Given the description of an element on the screen output the (x, y) to click on. 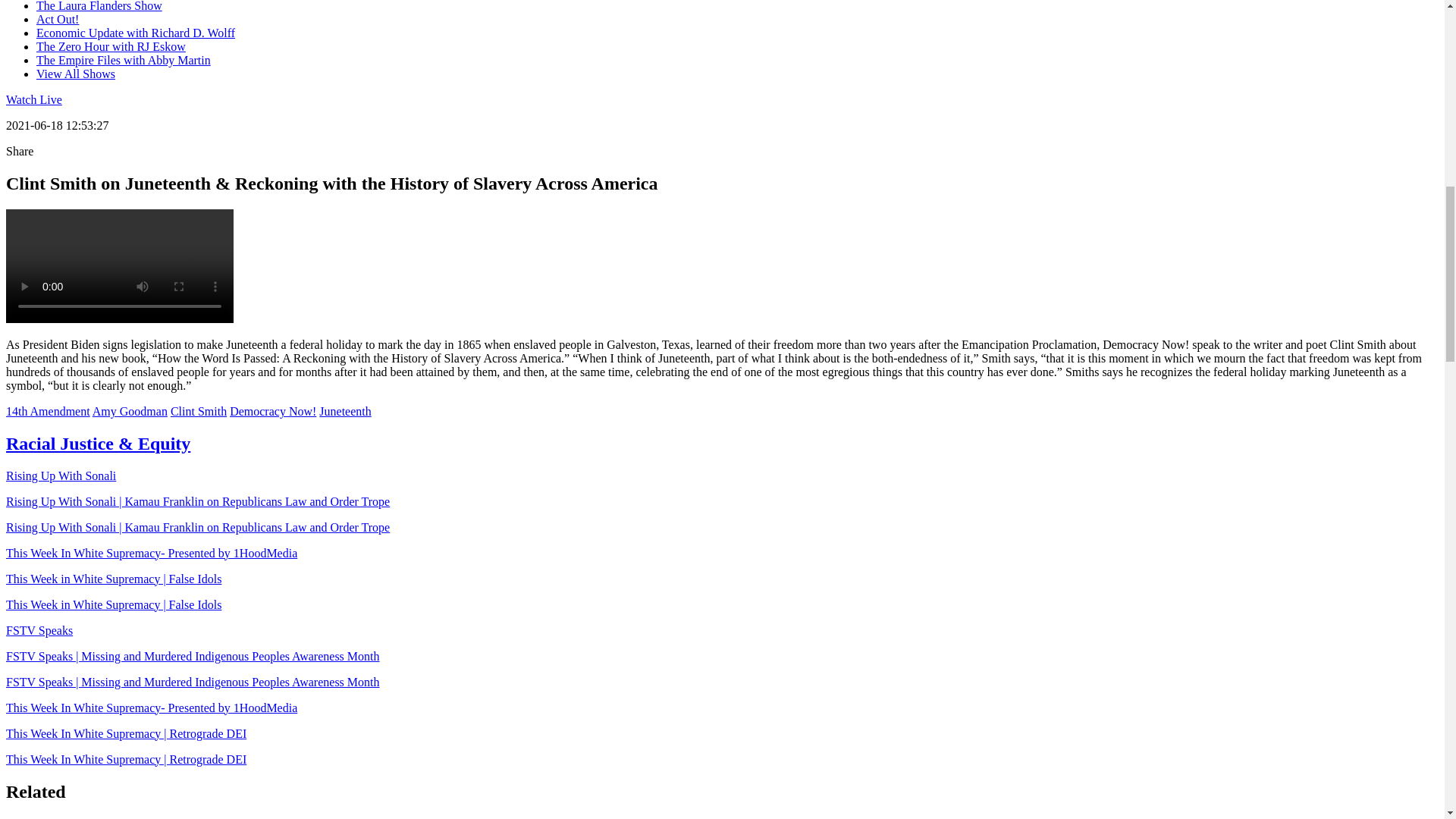
The Laura Flanders Show (98, 6)
Act Out! (57, 19)
